Given the description of an element on the screen output the (x, y) to click on. 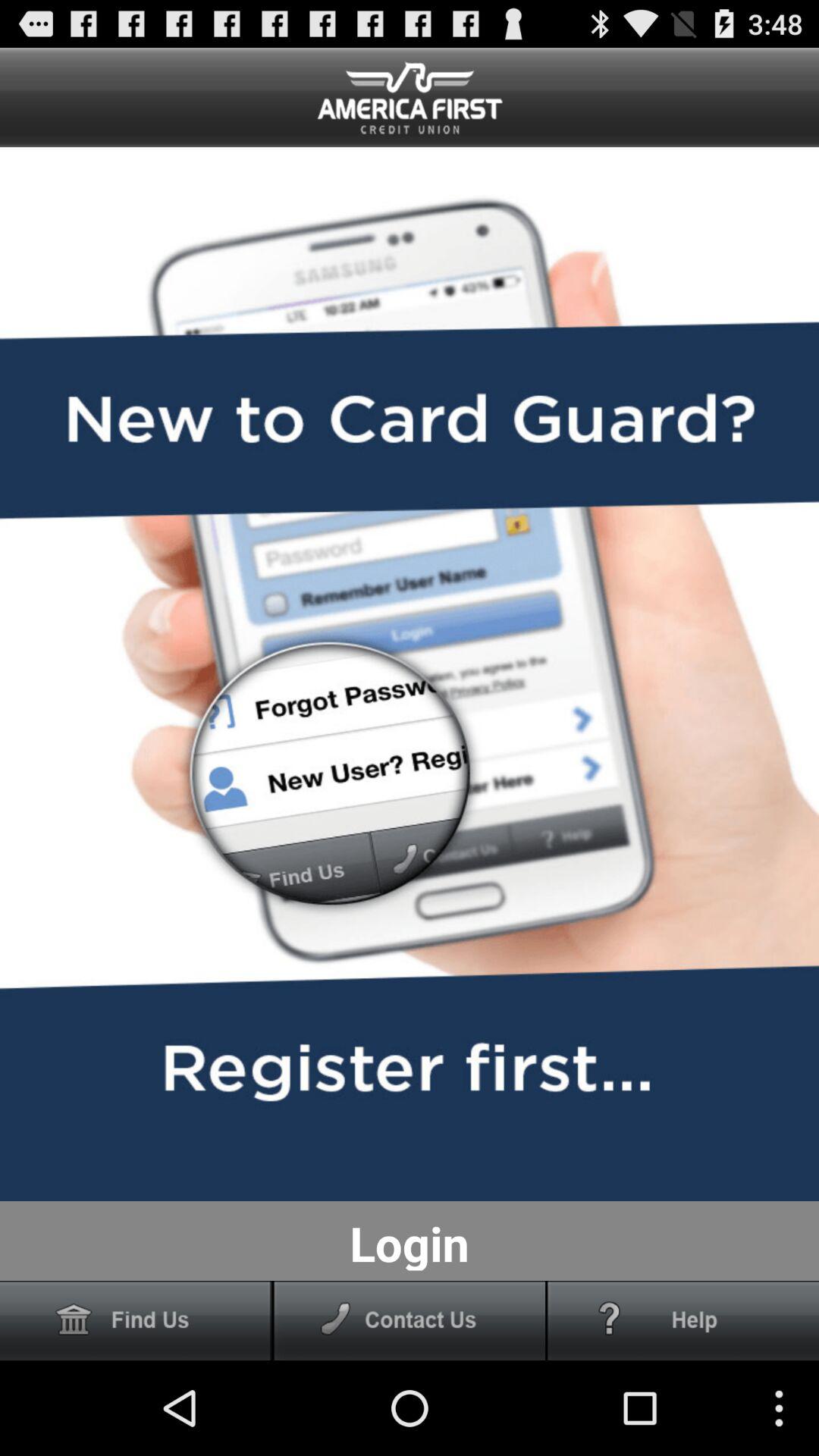
help (683, 1320)
